Given the description of an element on the screen output the (x, y) to click on. 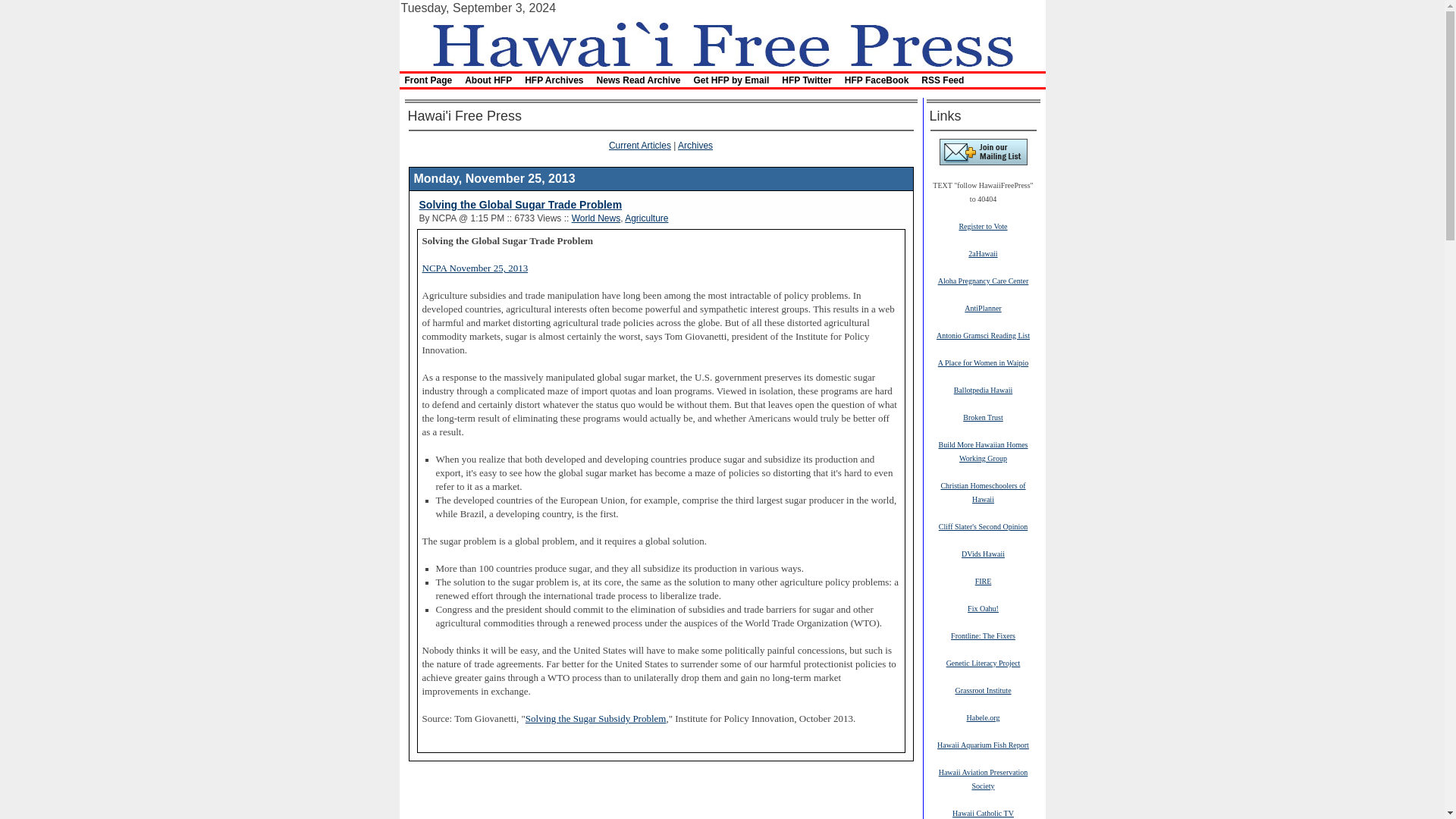
2aHawaii (982, 253)
Hawaii Free Press (721, 42)
Hawaii Aquarium Fish Report (983, 744)
Build More Hawaiian Homes Working Group (982, 450)
Aloha Pregnancy Care Center (983, 280)
NCPA November 25, 2013 (474, 267)
Cliff Slater's Second Opinion (983, 525)
Hawaii Catholic TV (982, 812)
Register to Vote (982, 225)
Solving the Global Sugar Trade Problem (520, 204)
